Given the description of an element on the screen output the (x, y) to click on. 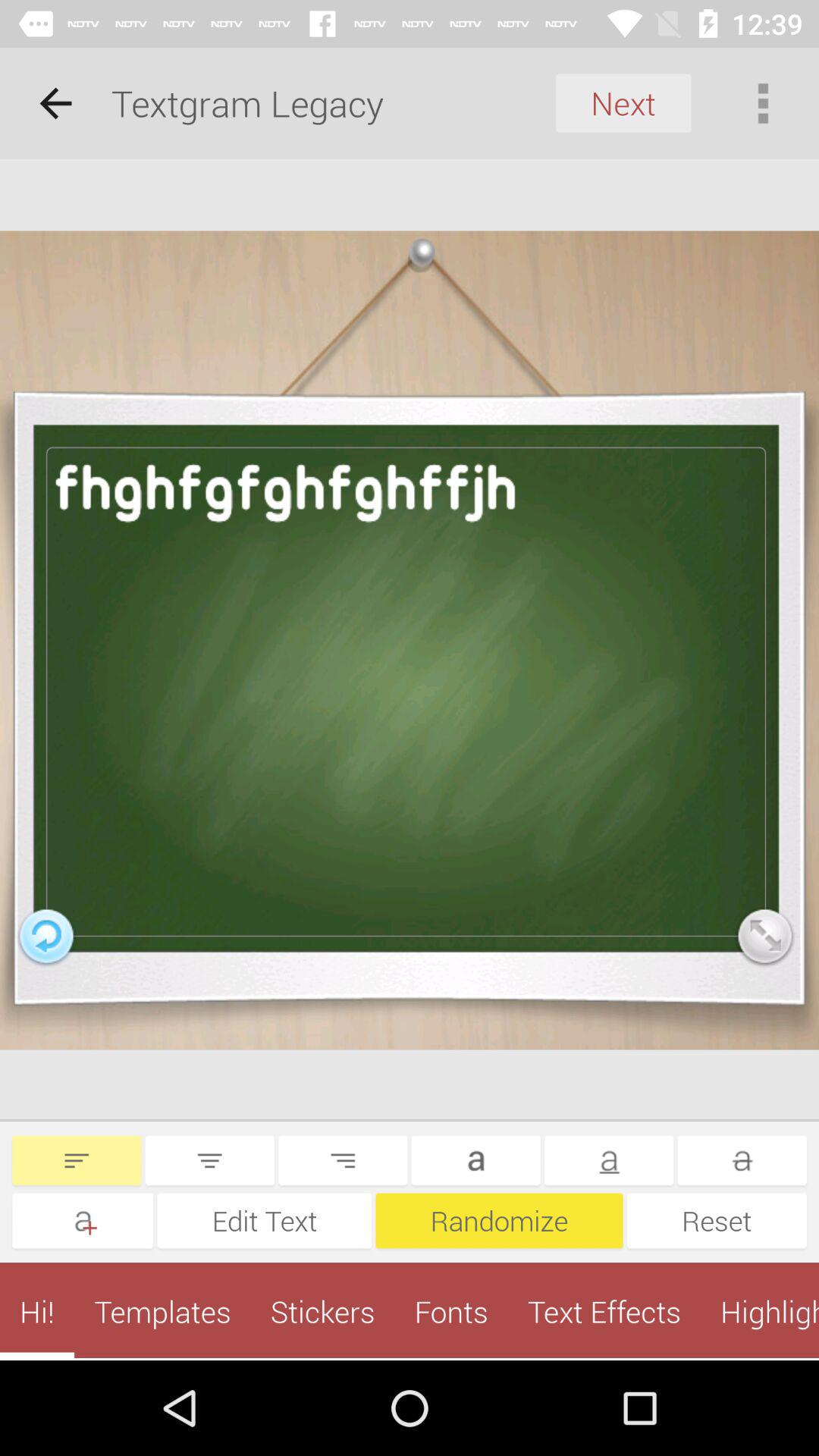
select icon next to next (763, 103)
